Given the description of an element on the screen output the (x, y) to click on. 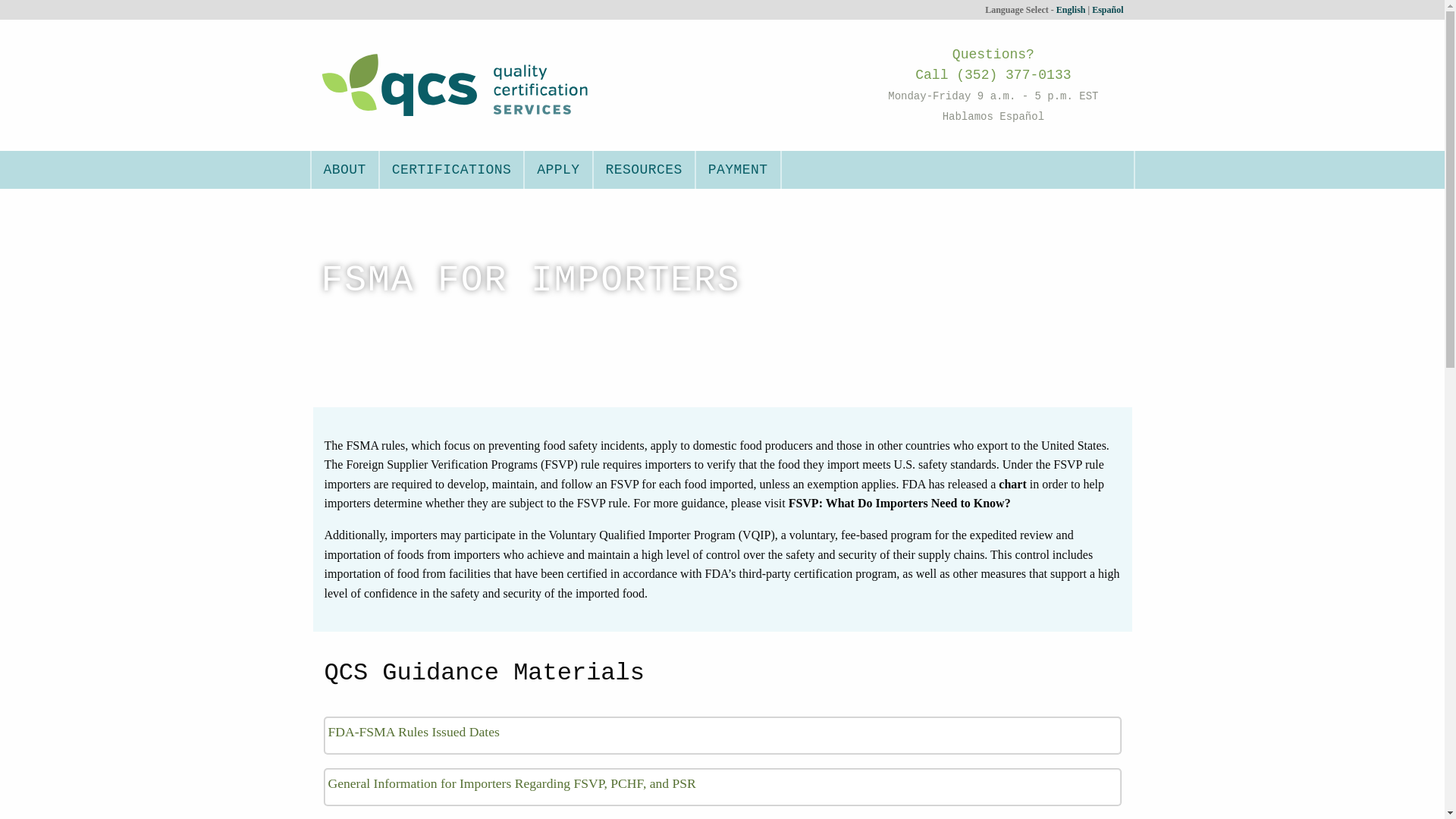
APPLY (556, 169)
English (1071, 9)
CERTIFICATIONS (451, 169)
ABOUT (342, 169)
English (1071, 9)
